Given the description of an element on the screen output the (x, y) to click on. 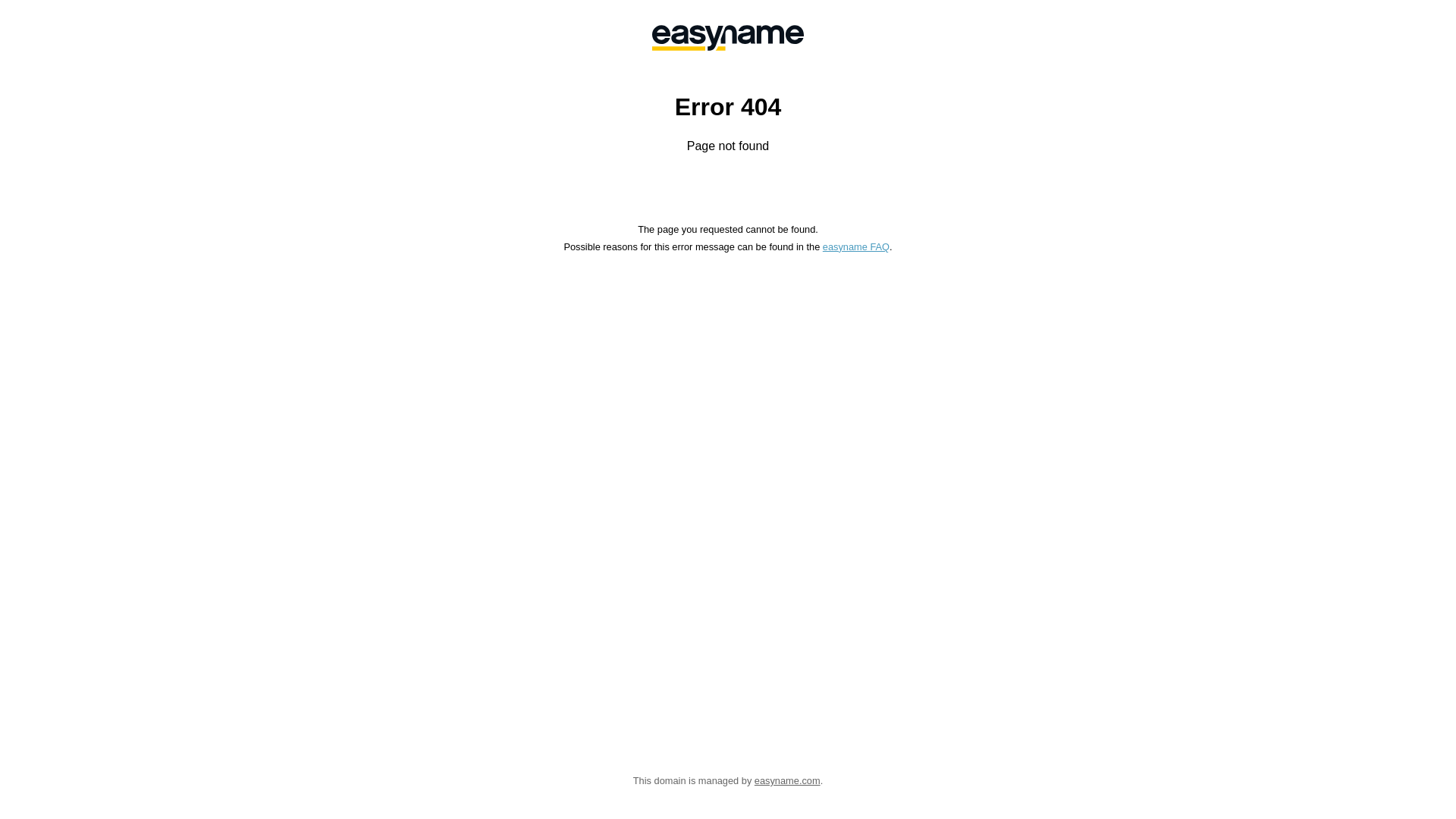
easyname GmbH Element type: hover (727, 37)
easyname.com Element type: text (787, 780)
easyname FAQ Element type: text (855, 246)
